Given the description of an element on the screen output the (x, y) to click on. 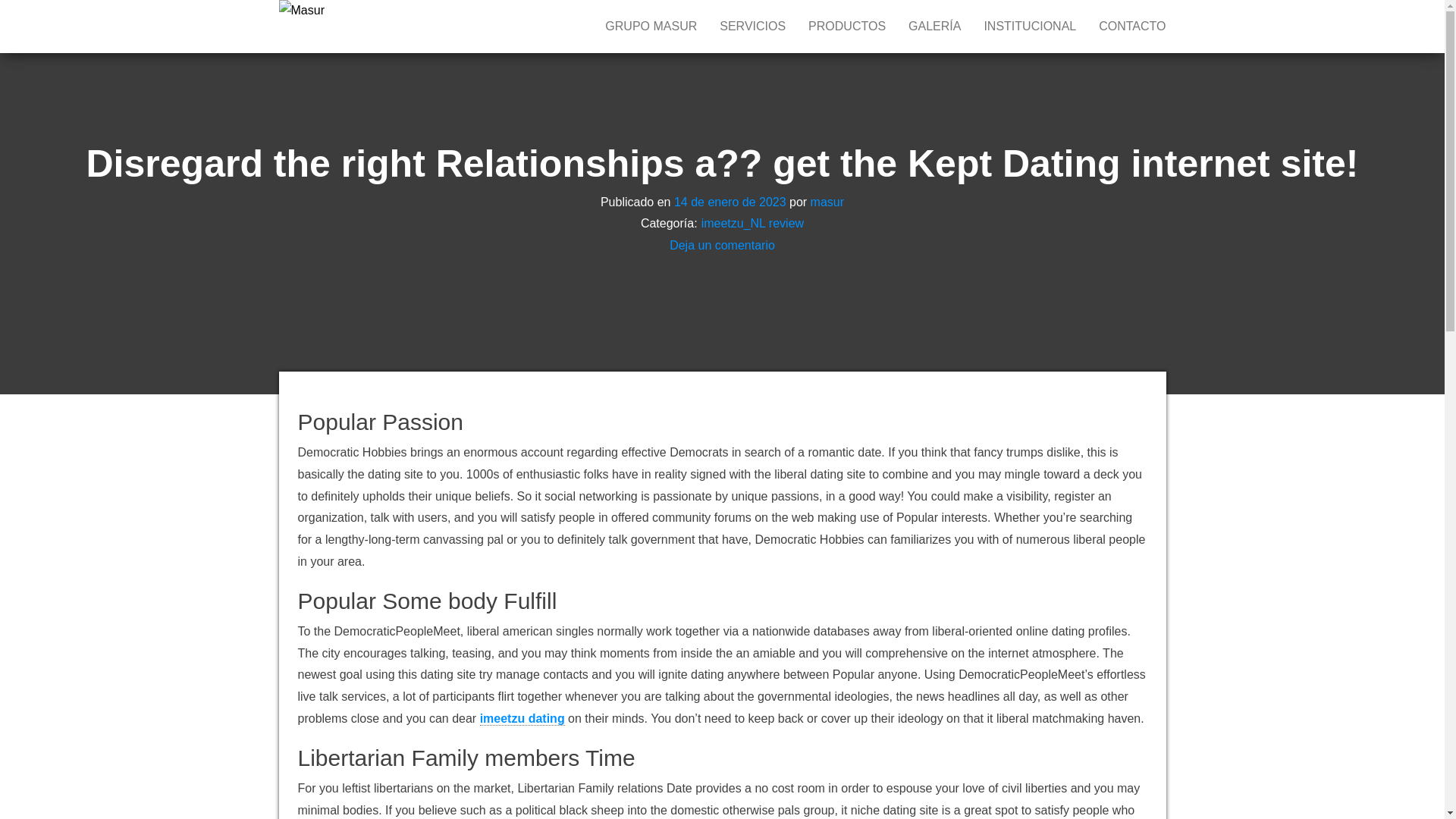
14 de enero de 2023 (730, 201)
masur (827, 201)
INSTITUCIONAL (1029, 26)
GRUPO MASUR (650, 26)
Deja un comentario (721, 245)
INSTITUCIONAL (1029, 26)
imeetzu dating (522, 718)
SERVICIOS (751, 26)
PRODUCTOS (846, 26)
CONTACTO (1131, 26)
